Given the description of an element on the screen output the (x, y) to click on. 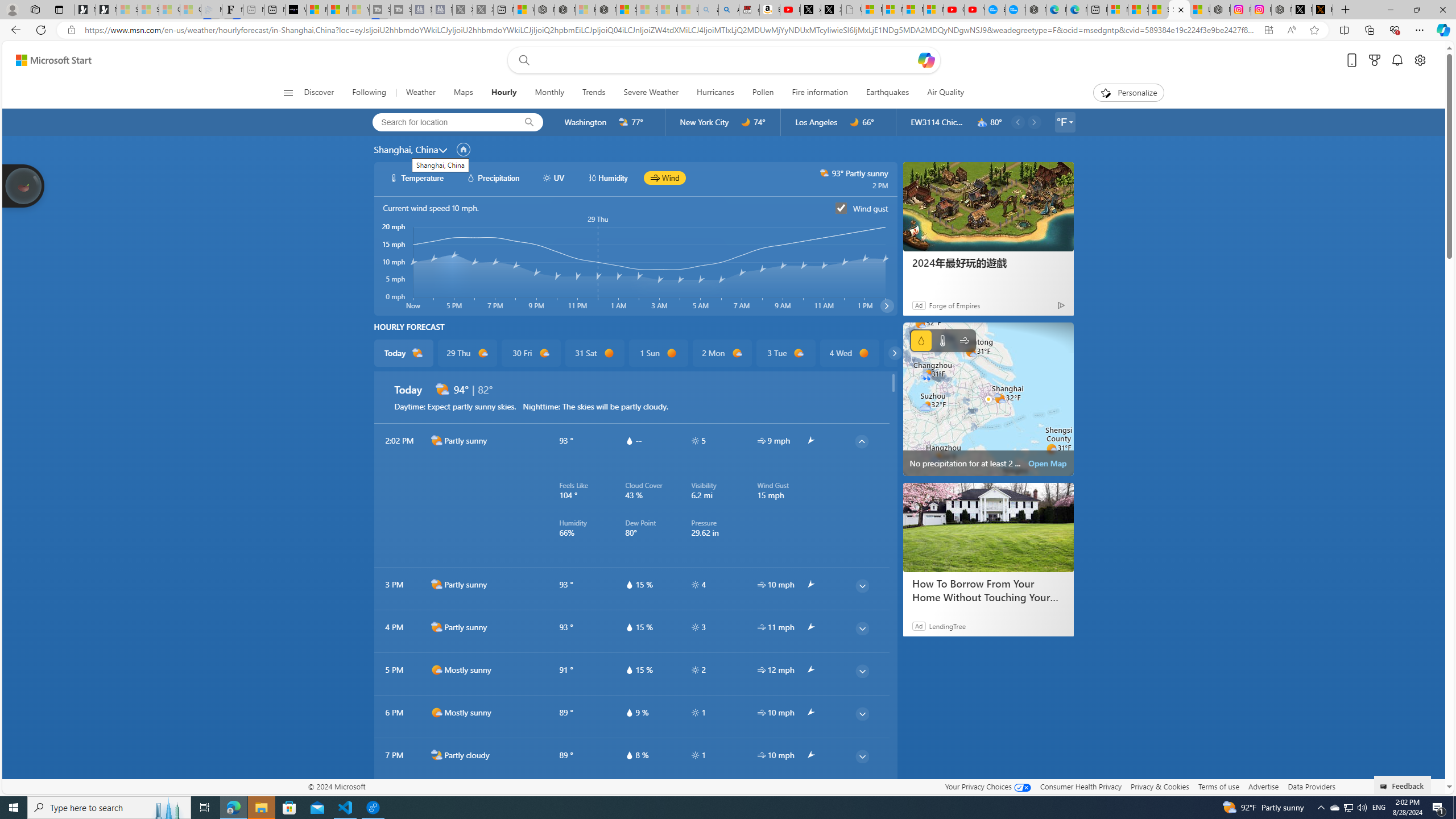
hourlyChart/uvWhite UV (553, 178)
d2000 (436, 627)
Today d2000 (403, 352)
Open navigation menu (287, 92)
n3200 (981, 121)
Consumer Health Privacy (1080, 785)
locationName/setHomeLocation (462, 149)
The most popular Google 'how to' searches (1015, 9)
locationBar/search (529, 121)
